Given the description of an element on the screen output the (x, y) to click on. 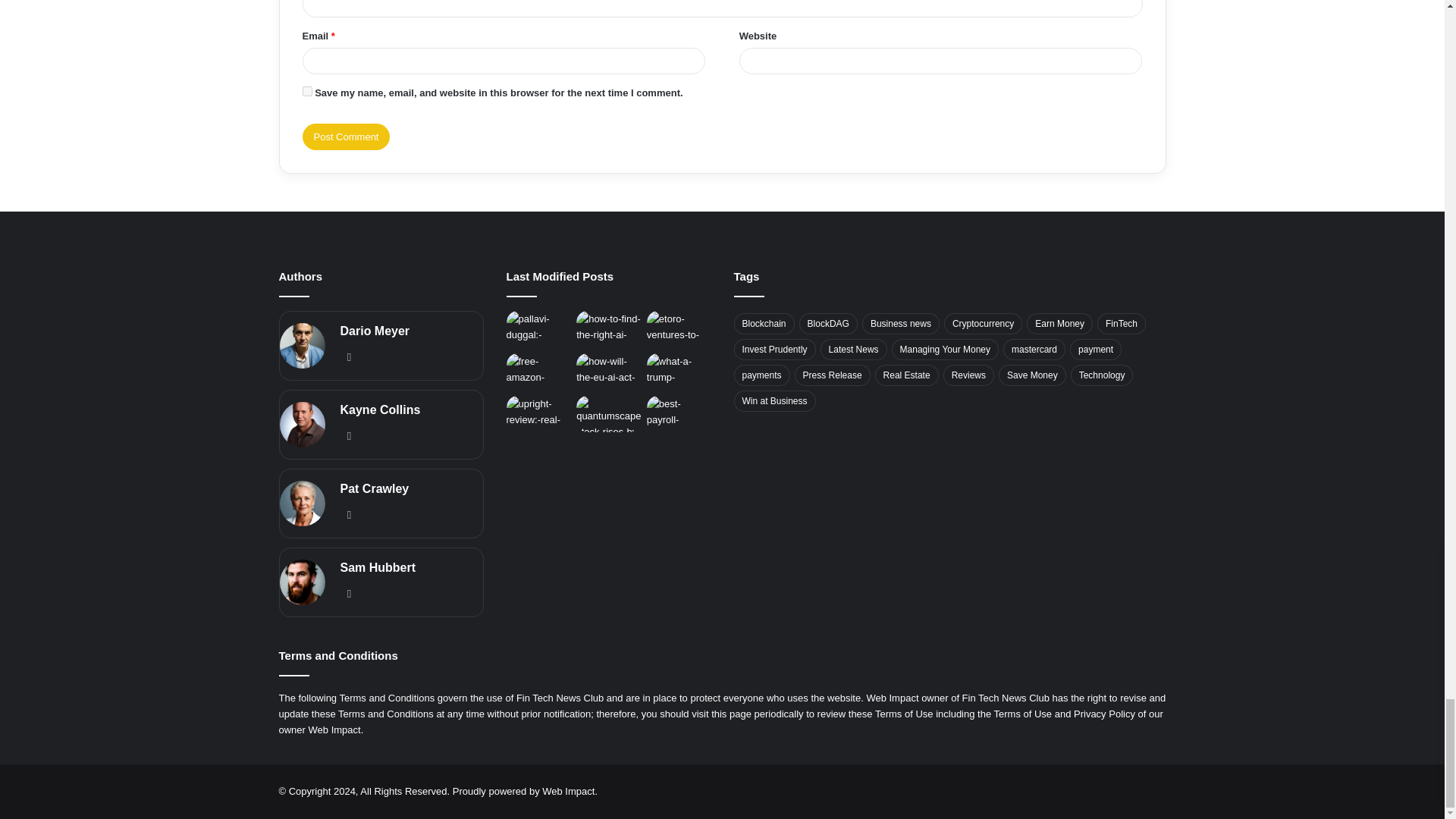
yes (306, 91)
Post Comment (345, 136)
